Given the description of an element on the screen output the (x, y) to click on. 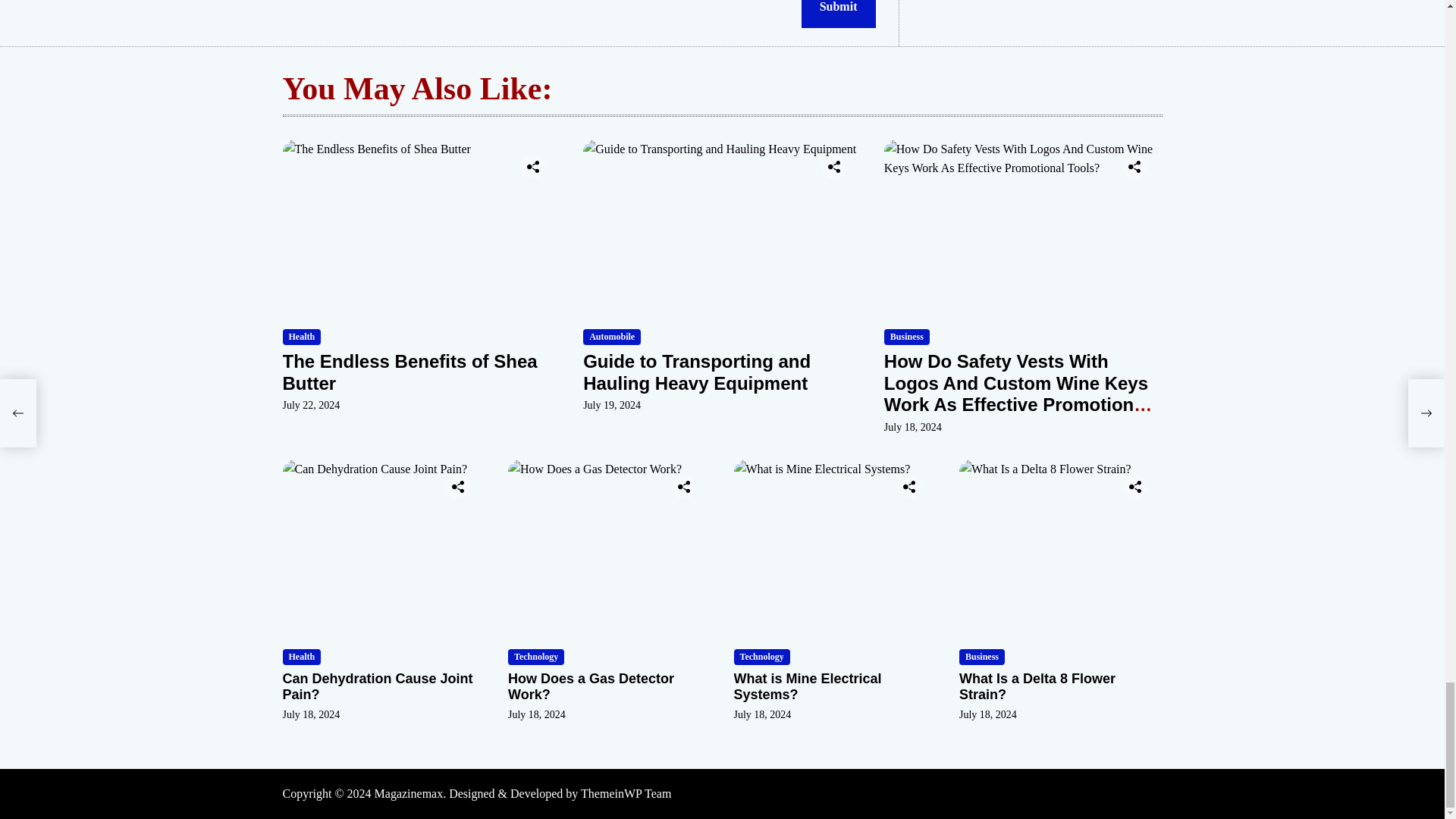
Submit (839, 13)
